Given the description of an element on the screen output the (x, y) to click on. 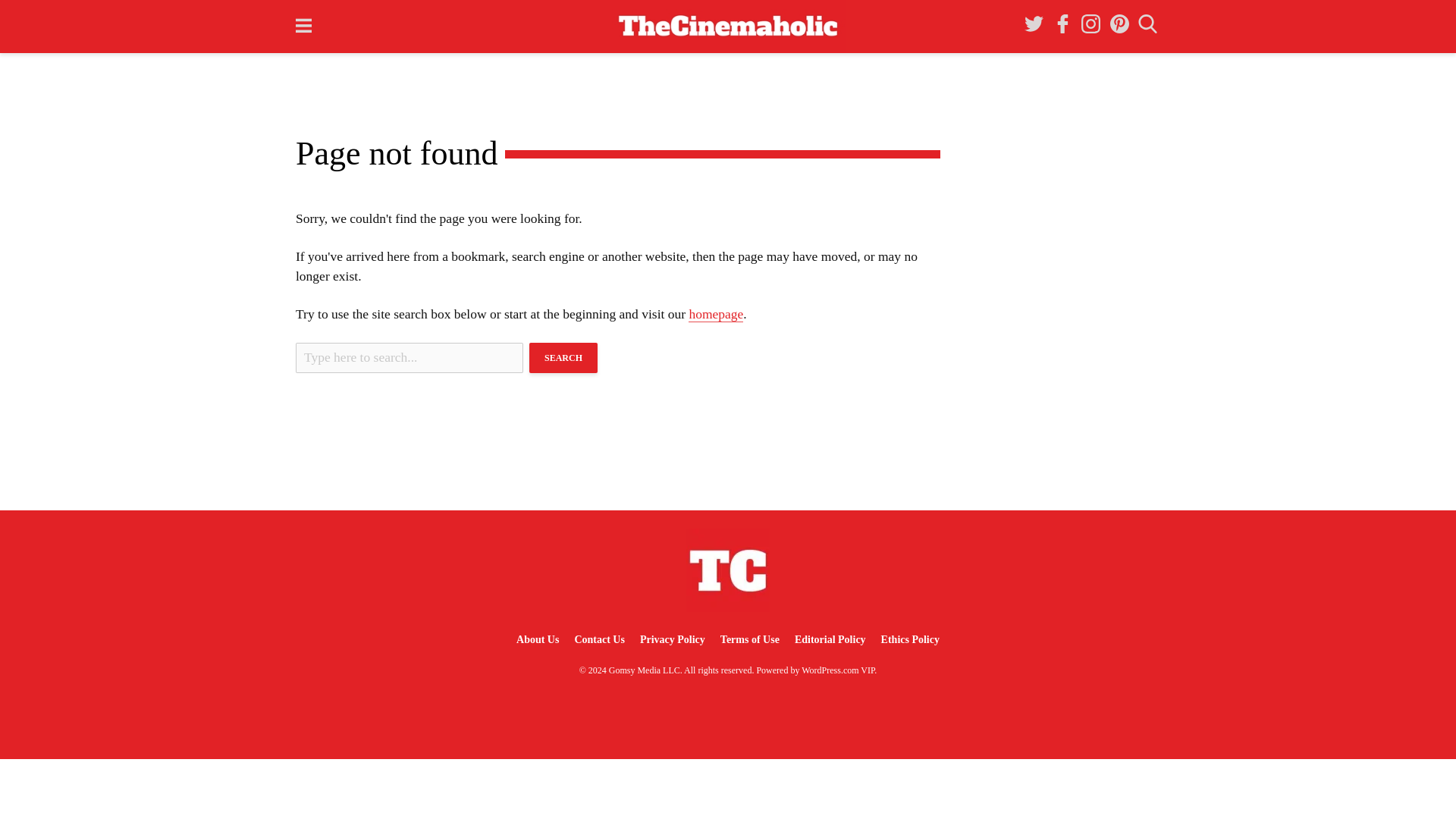
SEARCH (562, 358)
Privacy Policy (672, 639)
About Us (537, 639)
WordPress.com VIP (838, 670)
Ethics Policy (910, 639)
Contact Us (598, 639)
Terms of Use (750, 639)
